Given the description of an element on the screen output the (x, y) to click on. 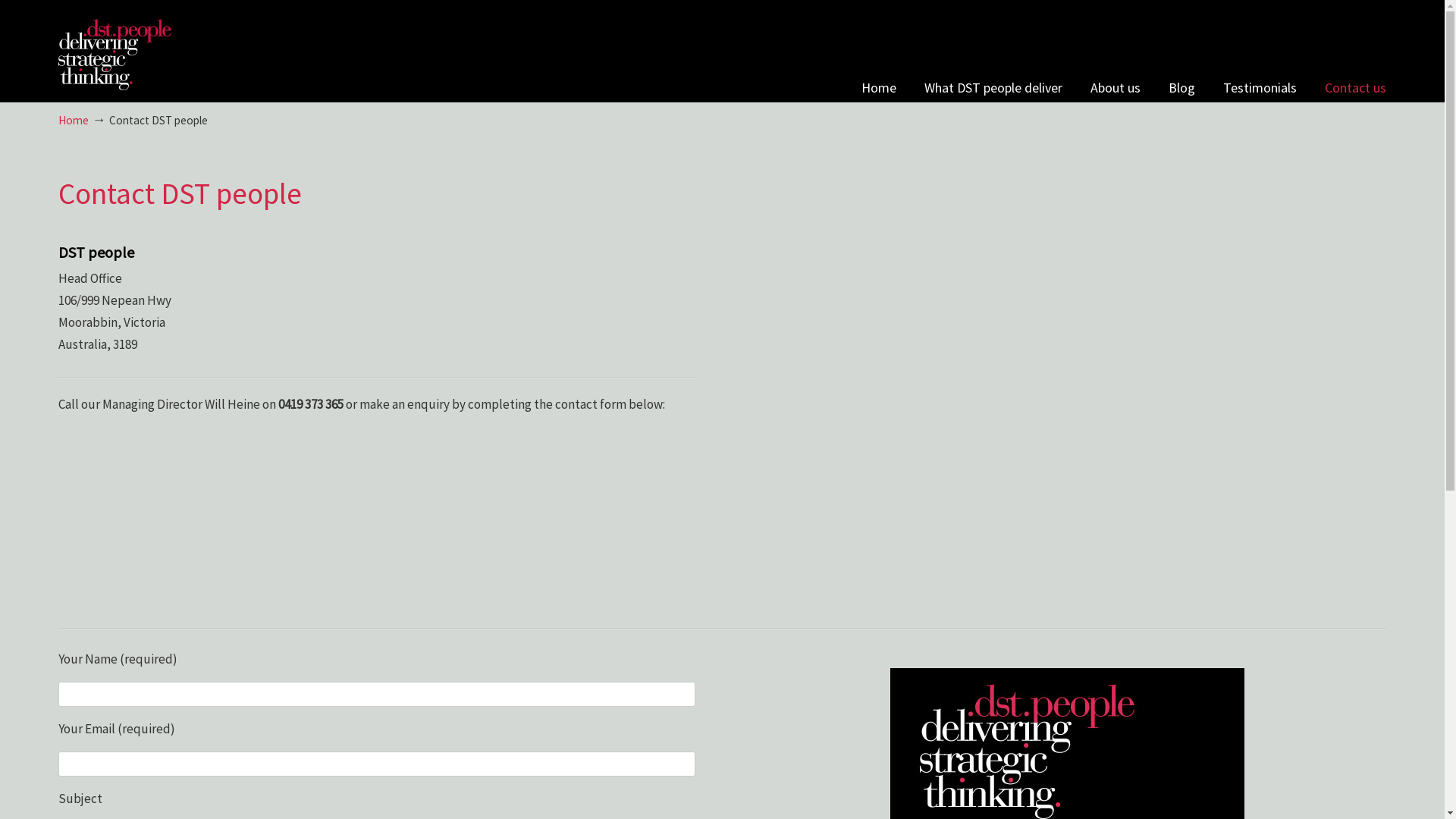
What DST people deliver Element type: text (993, 87)
DST People Element type: text (114, 47)
About us Element type: text (1115, 87)
Blog Element type: text (1181, 87)
Home Element type: text (73, 119)
Home Element type: text (878, 87)
Contact us Element type: text (1355, 87)
Testimonials Element type: text (1259, 87)
